Given the description of an element on the screen output the (x, y) to click on. 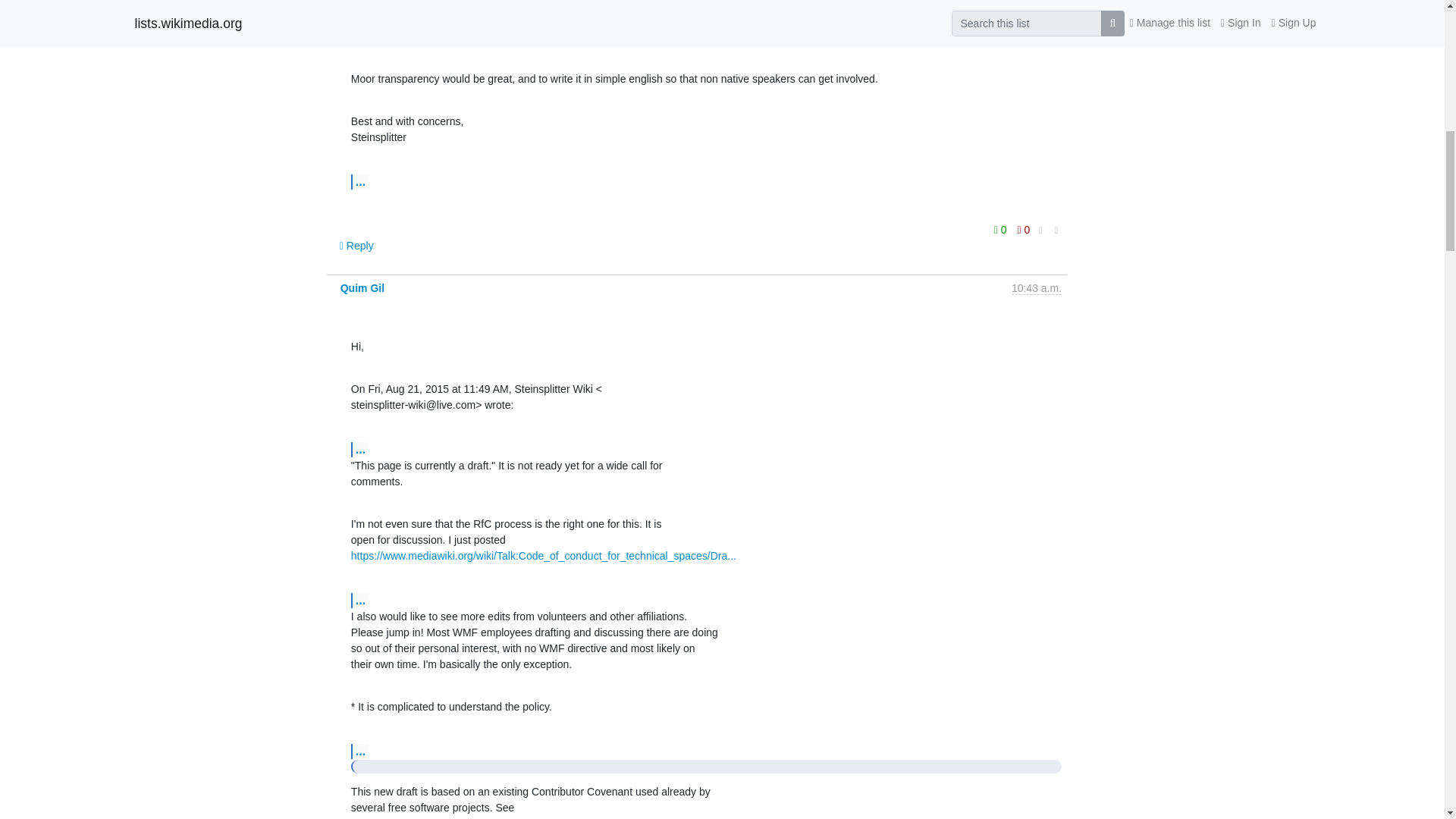
You must be logged-in to vote. (1001, 229)
You must be logged-in to vote. (1023, 229)
See the profile for Quim Gil (362, 287)
Sign in to reply online (356, 245)
